Given the description of an element on the screen output the (x, y) to click on. 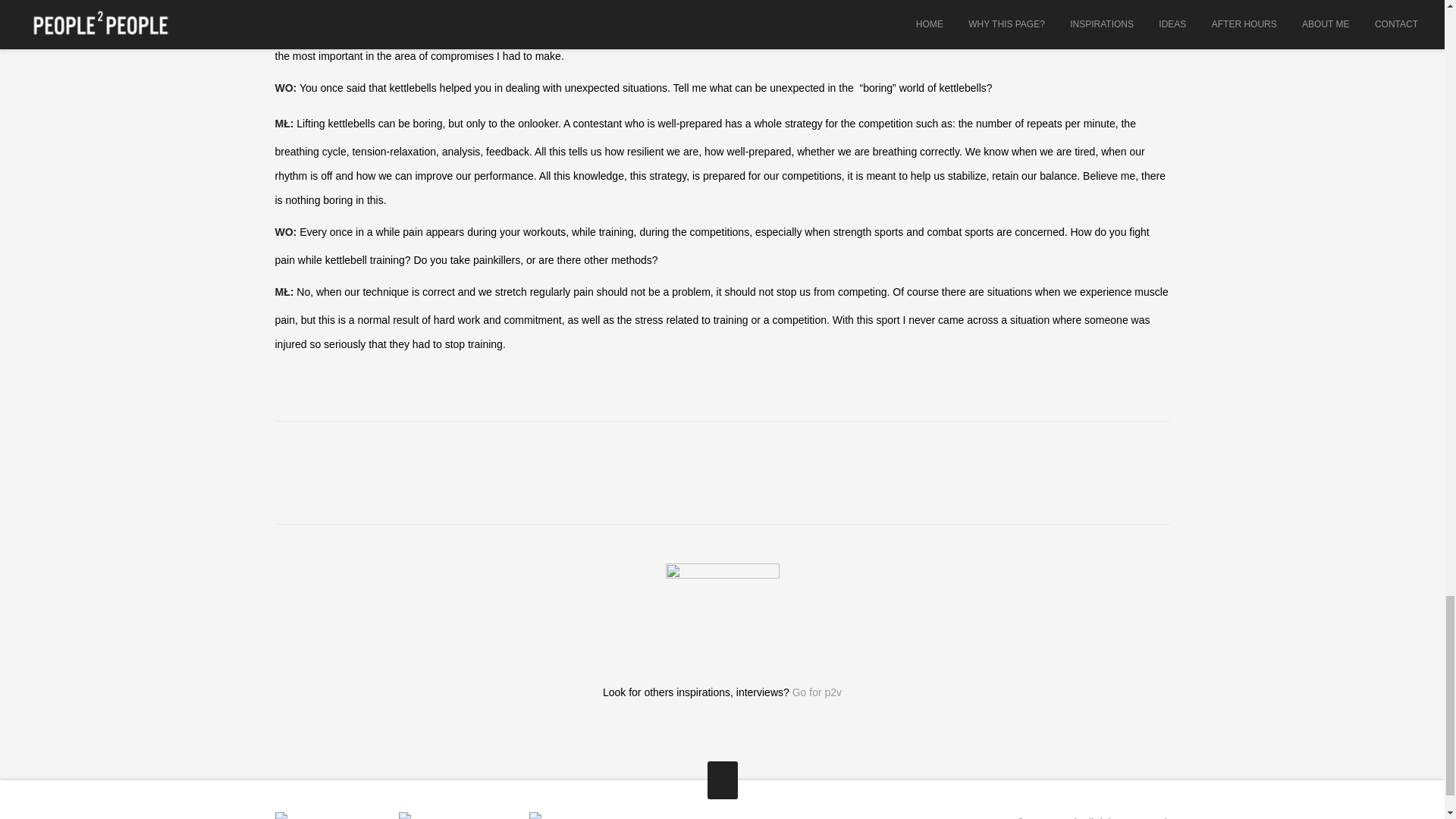
Go for p2v (816, 692)
